Given the description of an element on the screen output the (x, y) to click on. 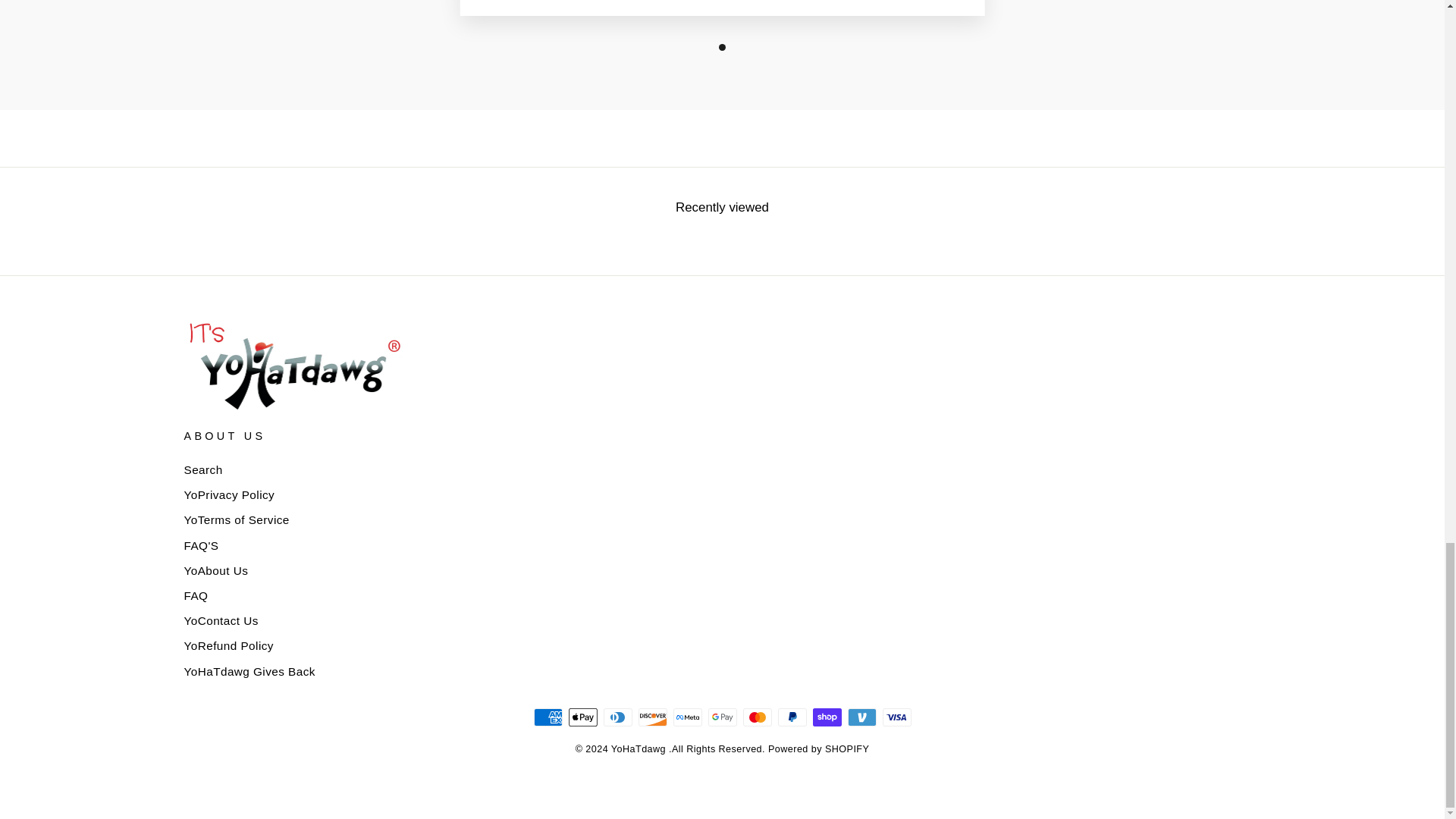
Venmo (861, 717)
Shop Pay (826, 717)
Diners Club (617, 717)
Google Pay (721, 717)
American Express (548, 717)
Visa (896, 717)
Apple Pay (582, 717)
PayPal (791, 717)
Meta Pay (686, 717)
Discover (652, 717)
Mastercard (756, 717)
